Given the description of an element on the screen output the (x, y) to click on. 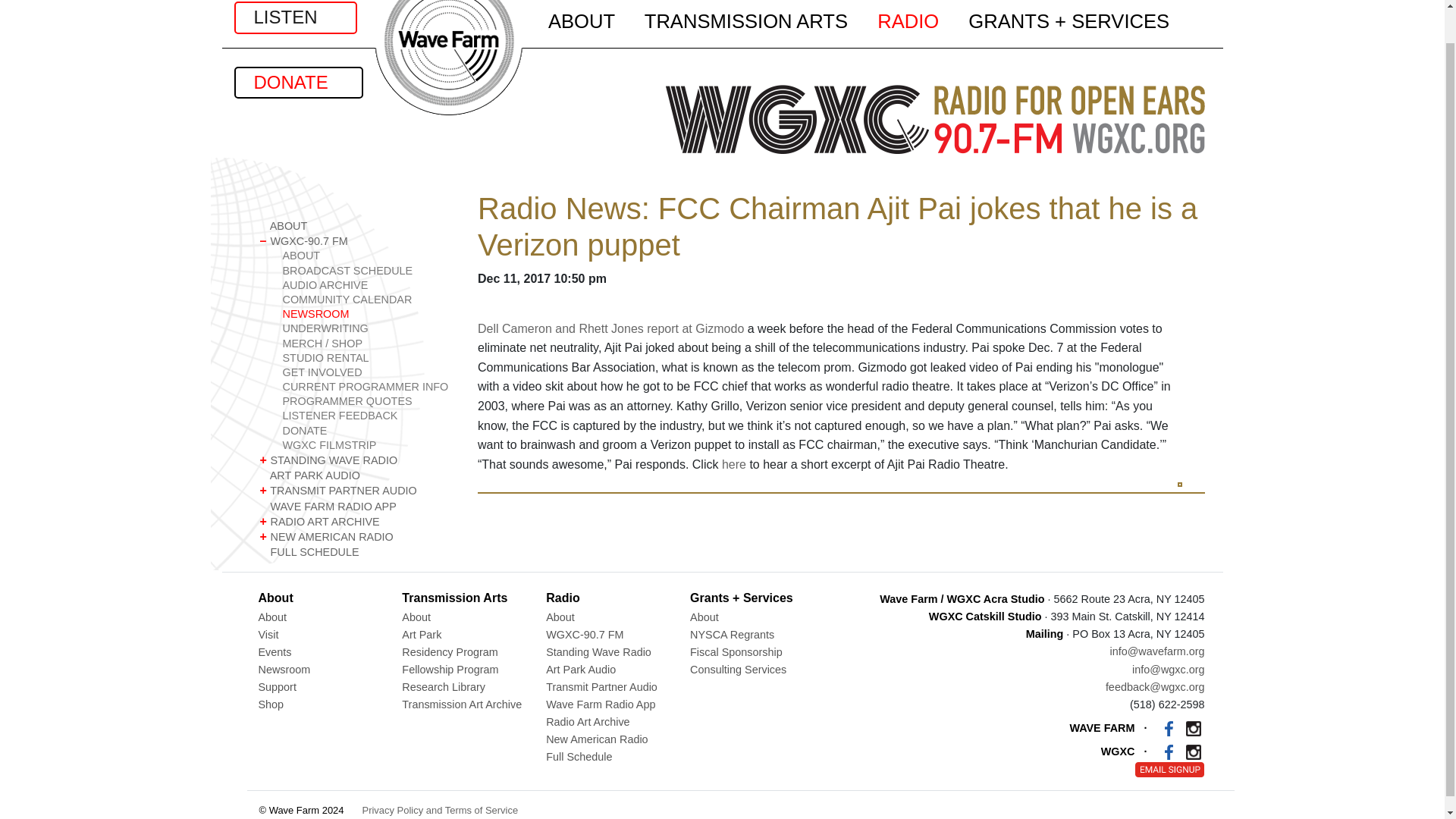
BROADCAST SCHEDULE (367, 270)
ABOUT (367, 255)
  ABOUT (355, 225)
DONATE    (297, 82)
LISTEN     (294, 17)
